Given the description of an element on the screen output the (x, y) to click on. 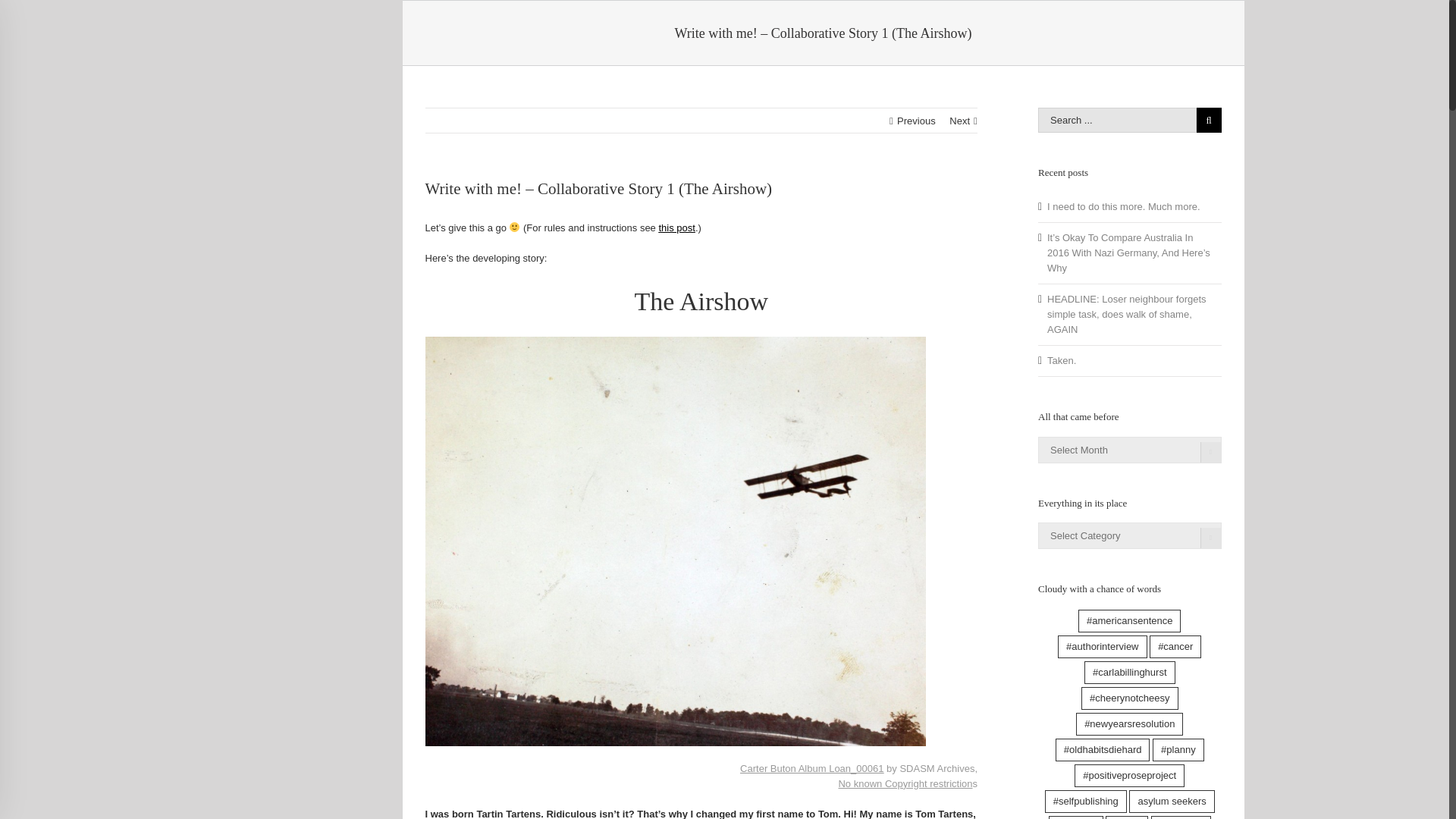
this post (676, 227)
No known Copyright restrictions (907, 783)
Previous (916, 121)
Next (959, 121)
